Given the description of an element on the screen output the (x, y) to click on. 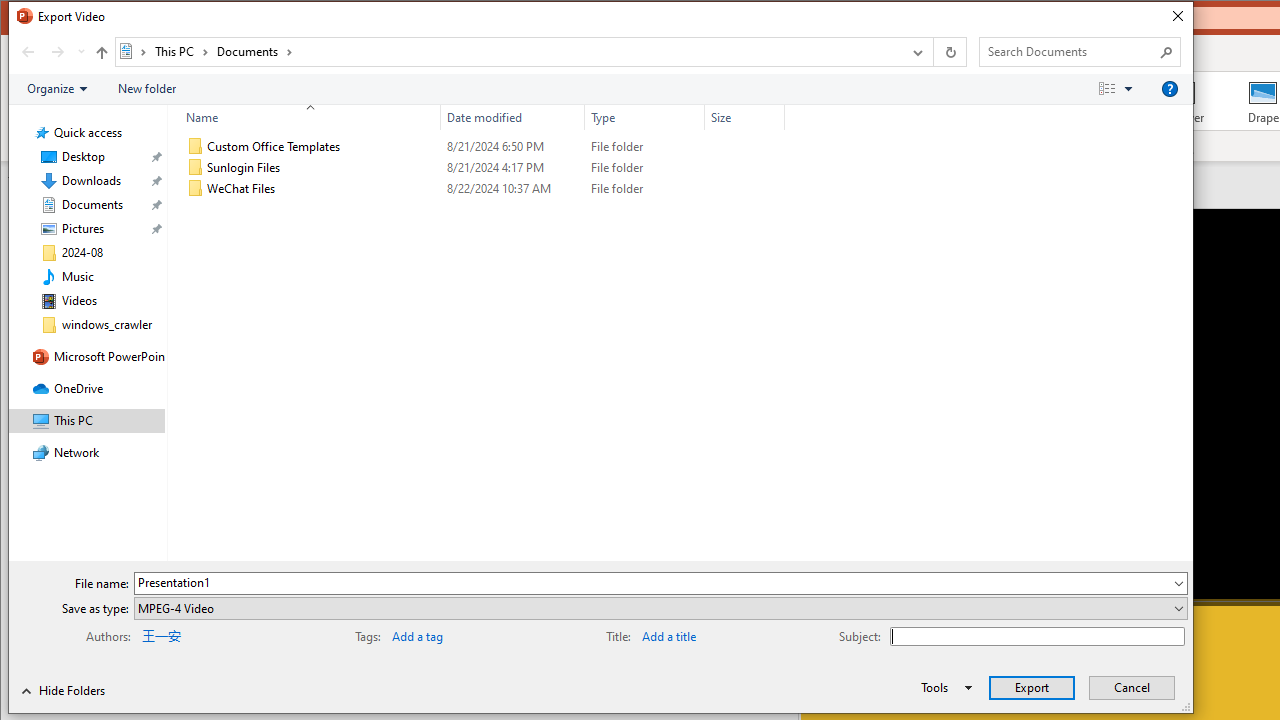
Hide Folders (63, 690)
Class: ToolbarWindow32 (72, 690)
Previous Locations (916, 51)
Size (744, 188)
